Given the description of an element on the screen output the (x, y) to click on. 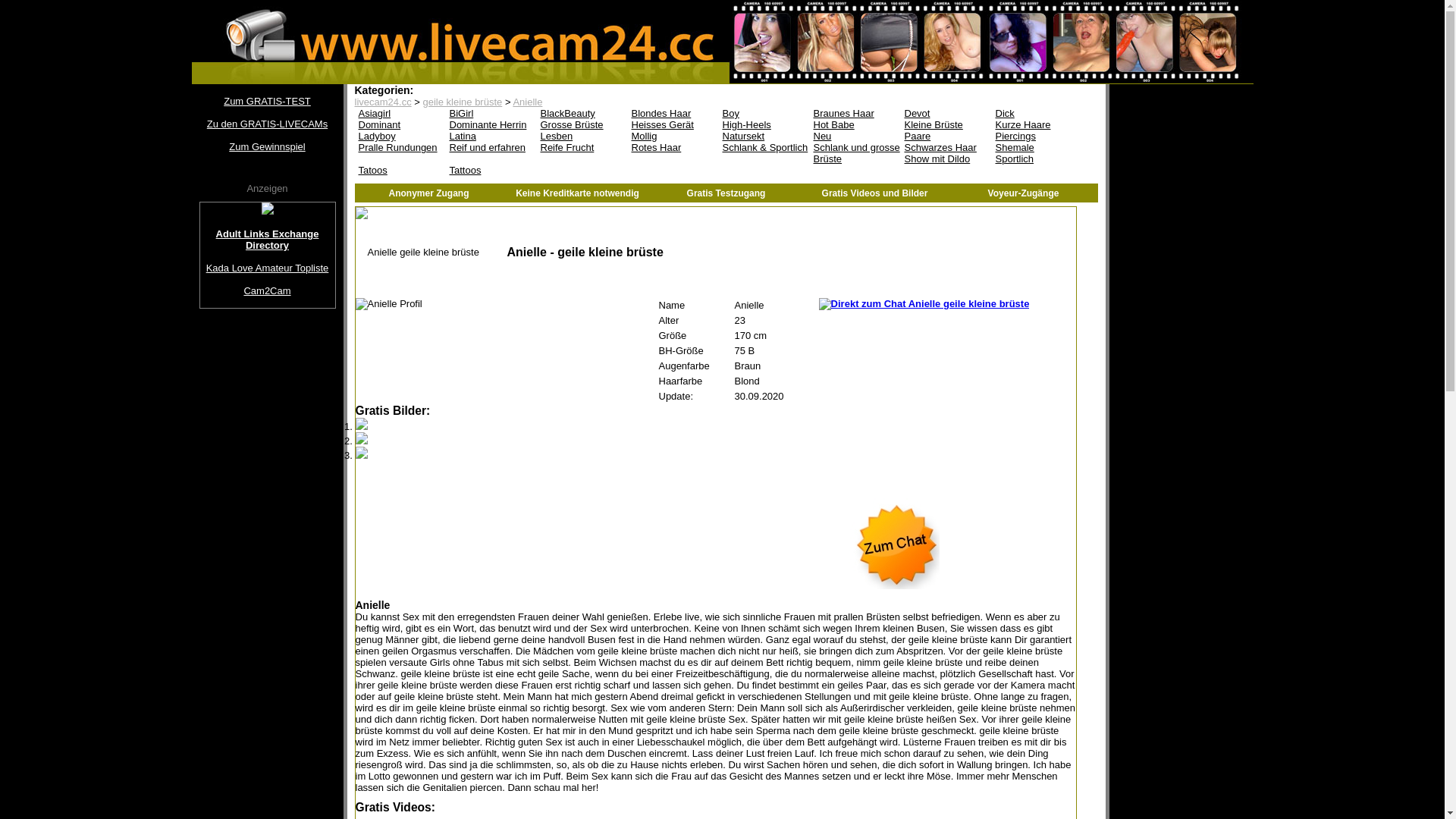
Tattoos Element type: text (490, 169)
Pralle Rundungen Element type: text (399, 147)
Kada Love Amateur Topliste Element type: text (267, 267)
Show mit Dildo Element type: text (945, 158)
Kurze Haare Element type: text (1036, 124)
Latina Element type: text (490, 135)
Hot Babe Element type: text (854, 124)
Rotes Haar Element type: text (672, 147)
Boy Element type: text (763, 113)
Piercings Element type: text (1036, 135)
Anielle Element type: text (527, 101)
BlackBeauty Element type: text (581, 113)
Ladyboy Element type: text (399, 135)
Blondes Haar Element type: text (672, 113)
Tatoos Element type: text (399, 169)
BiGirl Element type: text (490, 113)
Asiagirl Element type: text (399, 113)
Schlank & Sportlich Element type: text (763, 147)
Cam2Cam Element type: text (267, 290)
Mollig Element type: text (672, 135)
Sportlich Element type: text (1036, 158)
Zum GRATIS-TEST Element type: text (266, 100)
Reif und erfahren Element type: text (490, 147)
Adult Links Exchange Directory Element type: text (267, 239)
Reife Frucht Element type: text (581, 147)
Schwarzes Haar Element type: text (945, 147)
Natursekt Element type: text (763, 135)
Dominante Herrin Element type: text (490, 124)
livecam24.cc Element type: text (382, 101)
Zum Gewinnspiel Element type: text (266, 146)
Neu Element type: text (854, 135)
Paare Element type: text (945, 135)
Anielle Profil Element type: hover (387, 304)
Dominant Element type: text (399, 124)
Dick Element type: text (1036, 113)
High-Heels Element type: text (763, 124)
Devot Element type: text (945, 113)
Lesben Element type: text (581, 135)
Shemale Element type: text (1036, 147)
Zu den GRATIS-LIVECAMs Element type: text (266, 123)
Braunes Haar Element type: text (854, 113)
